Given the description of an element on the screen output the (x, y) to click on. 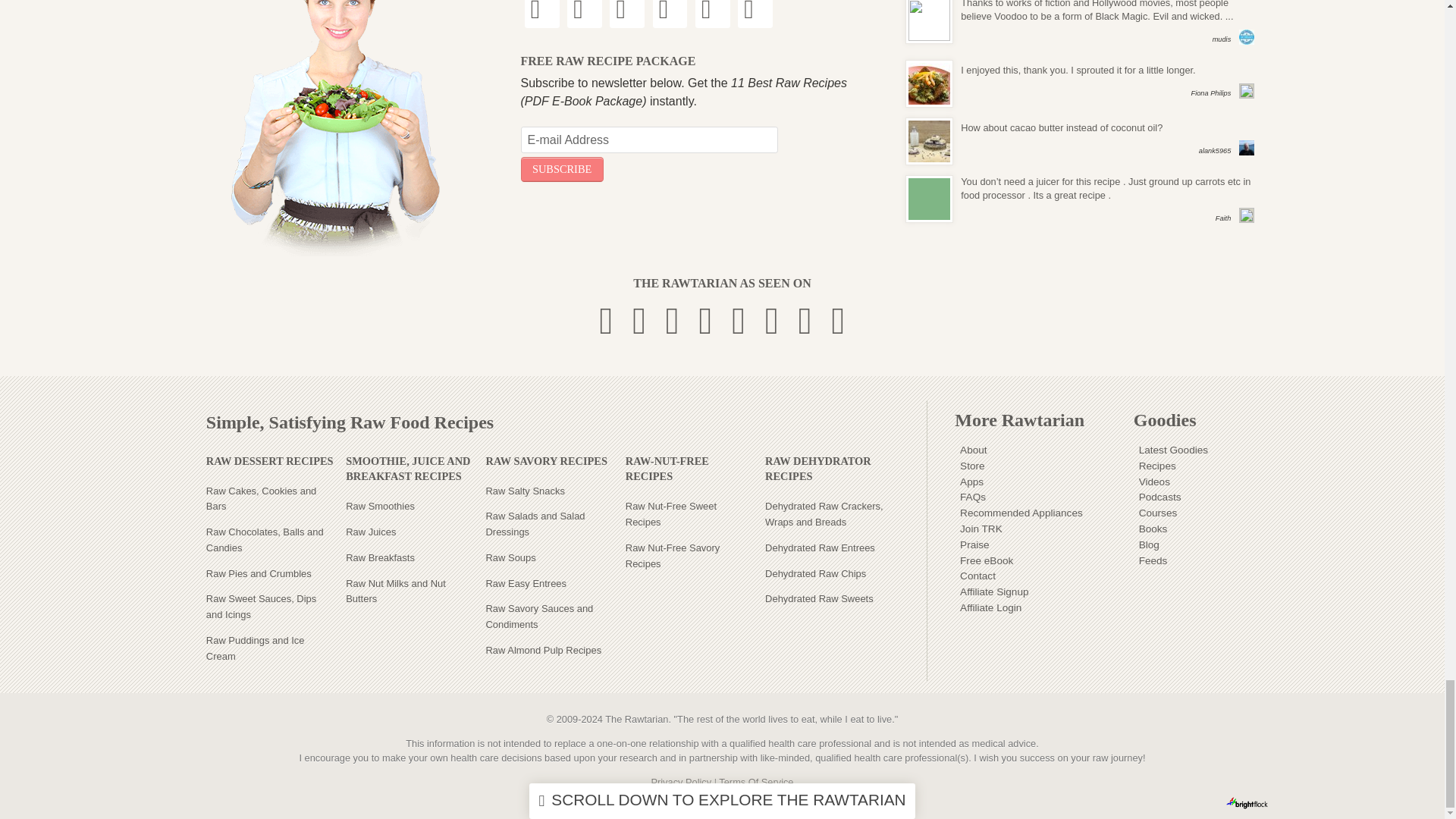
Subscribe (560, 169)
